Given the description of an element on the screen output the (x, y) to click on. 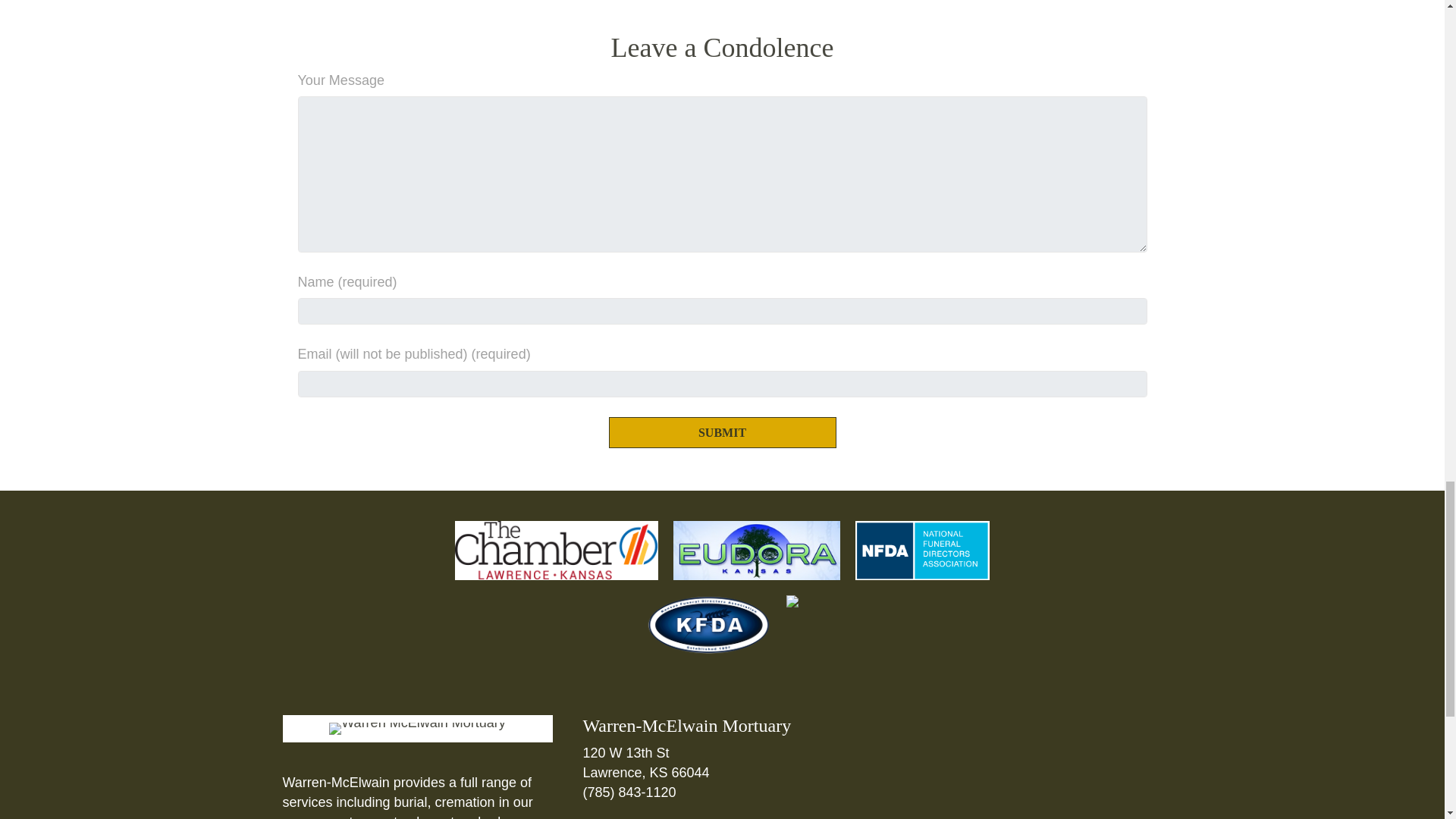
Warren McElwain Mortuary (417, 728)
Submit (721, 431)
